Given the description of an element on the screen output the (x, y) to click on. 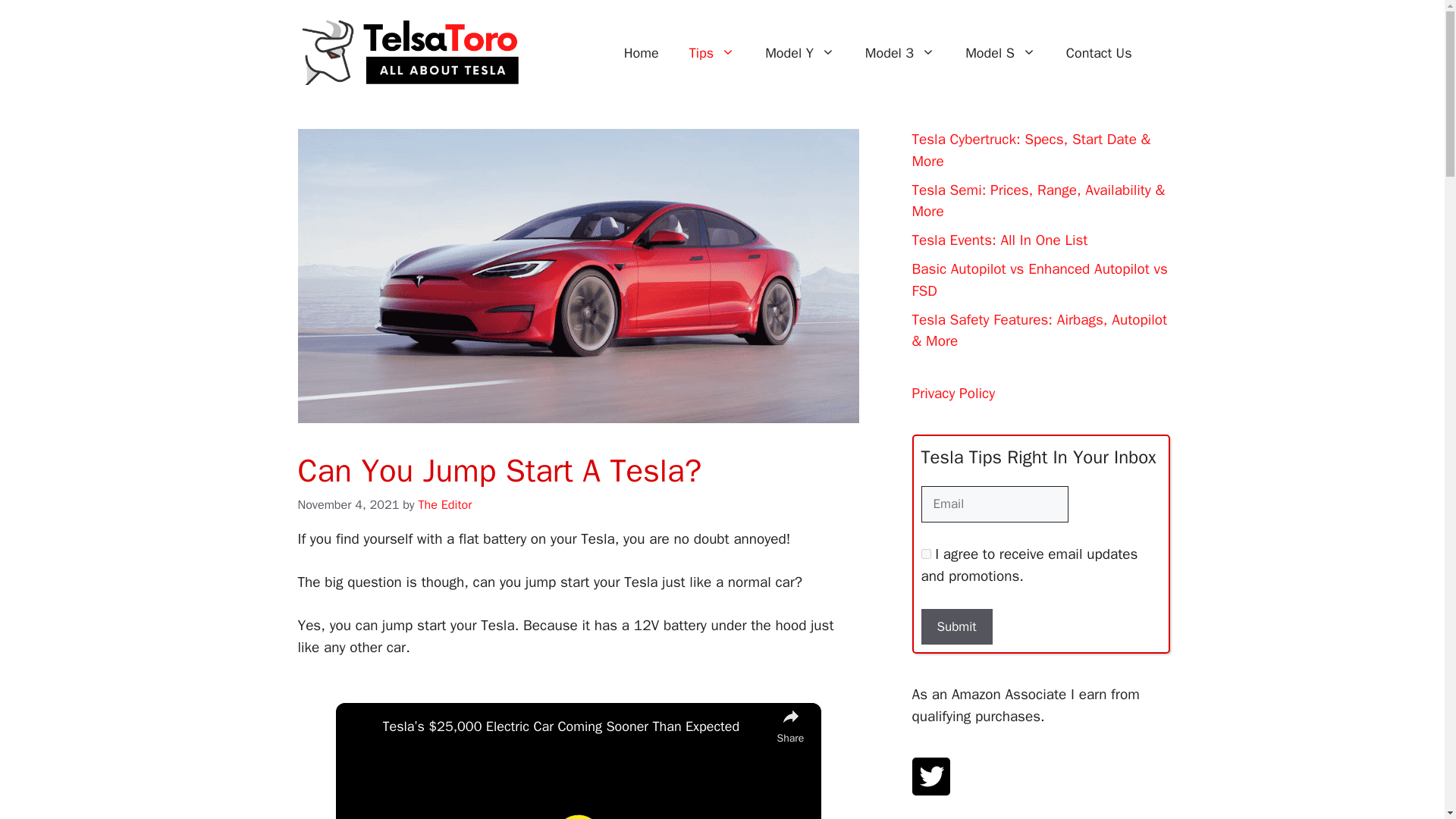
Model S (1000, 53)
Home (641, 53)
Tips (711, 53)
Basic Autopilot vs Enhanced Autopilot vs FSD (1039, 280)
Tesla Events: All In One List (999, 239)
Model Y (799, 53)
View all posts by The Editor (445, 504)
1 (925, 553)
The Editor (445, 504)
Contact Us (1099, 53)
